Given the description of an element on the screen output the (x, y) to click on. 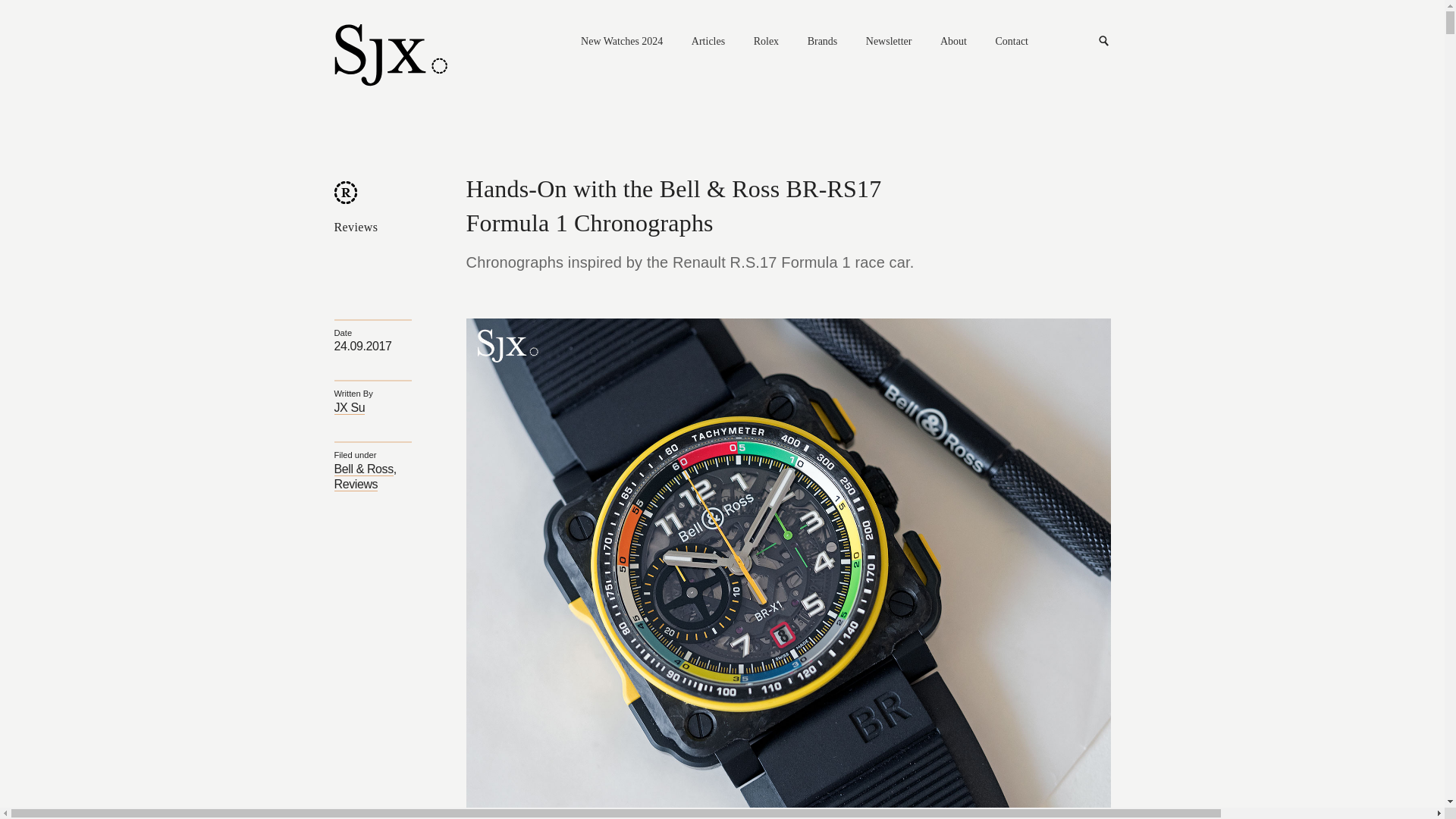
New Watches 2024 (621, 42)
Posts by JX Su (349, 407)
About (953, 42)
Search (1103, 40)
Newsletter (889, 42)
Rolex (766, 42)
Contact (1010, 42)
Articles (708, 42)
Brands (823, 42)
